Given the description of an element on the screen output the (x, y) to click on. 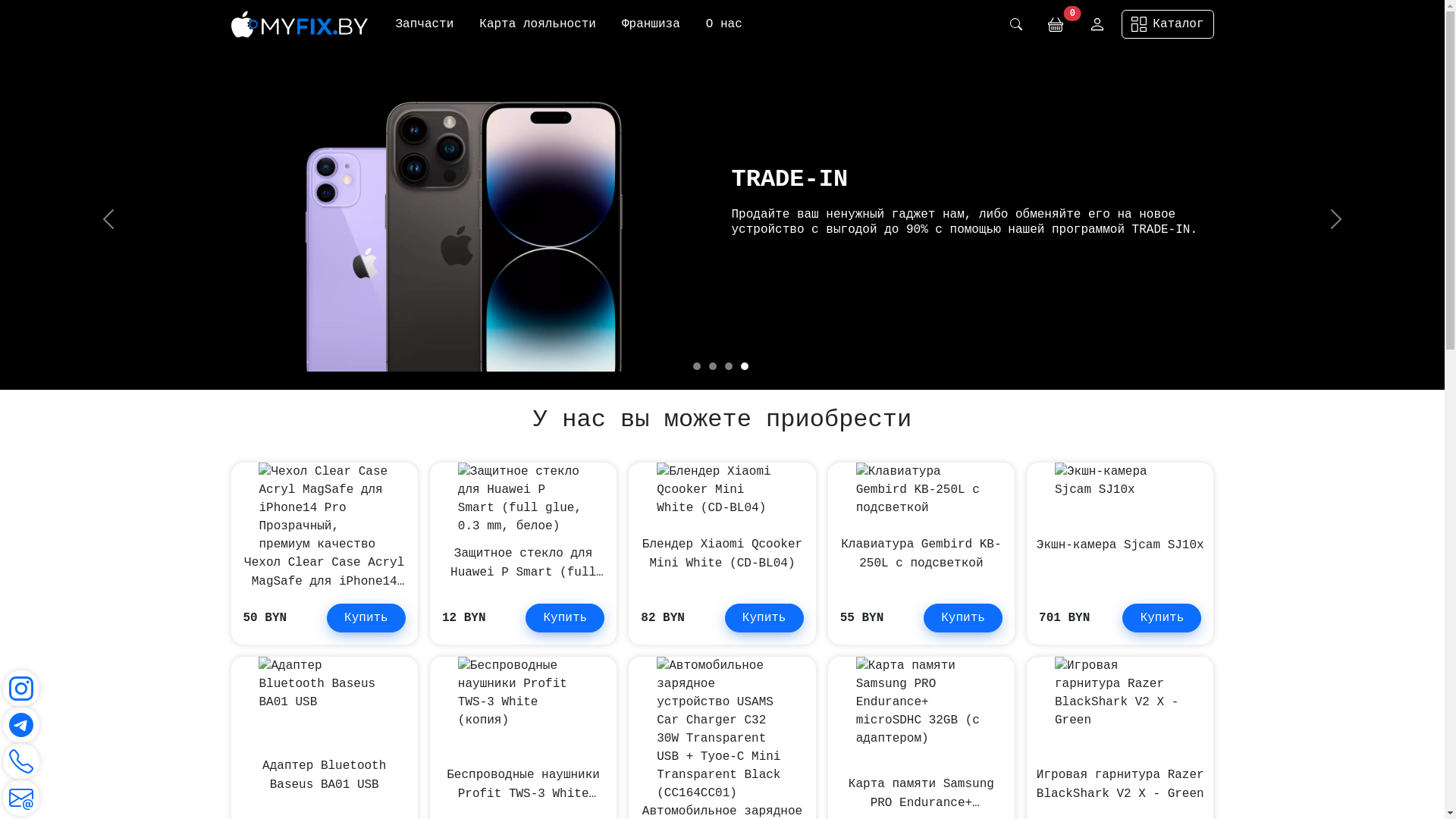
Next Element type: text (1335, 218)
0 Element type: text (1055, 24)
Previous Element type: text (108, 218)
